Given the description of an element on the screen output the (x, y) to click on. 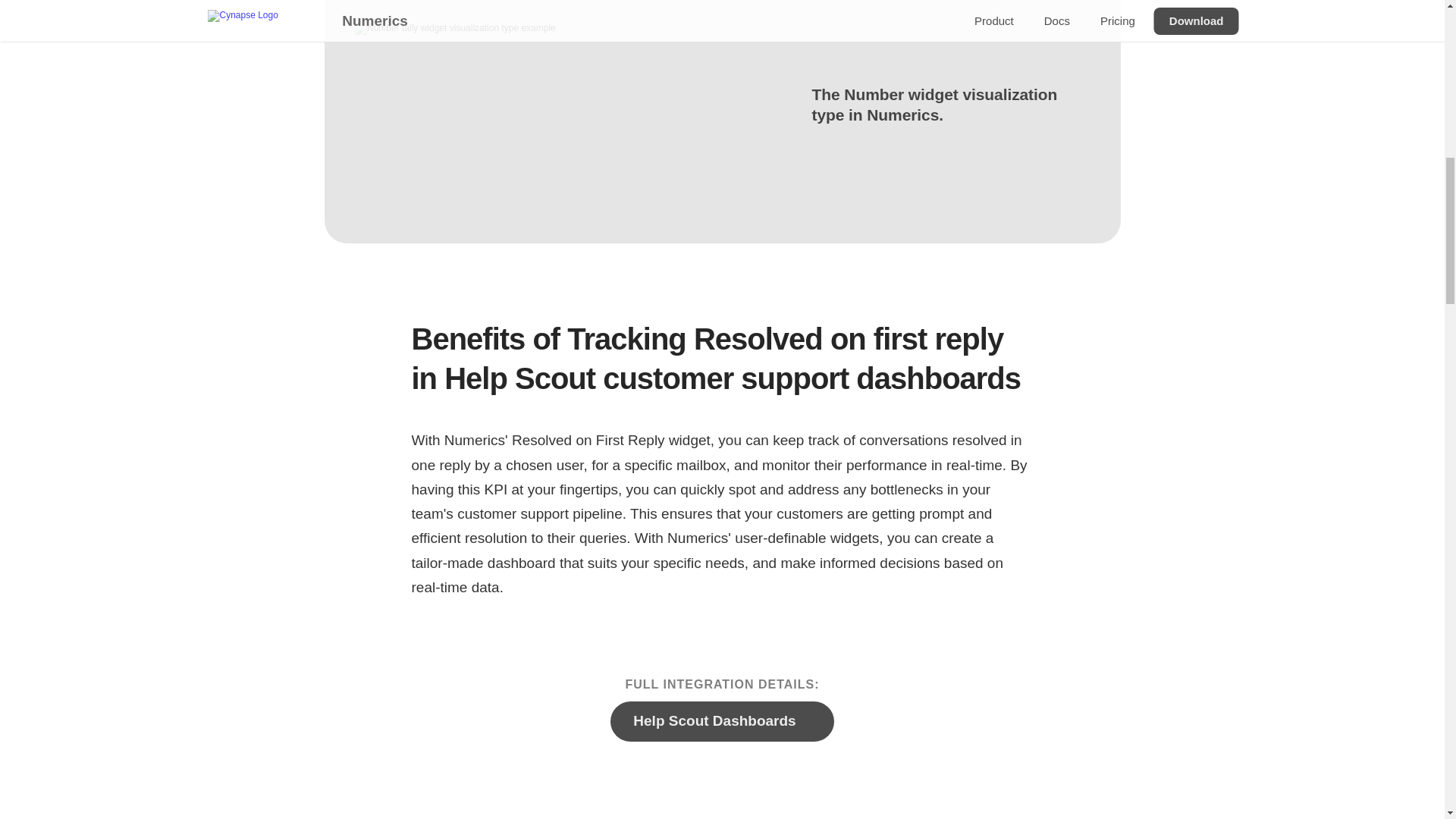
Help Scout Dashboards (721, 721)
